Given the description of an element on the screen output the (x, y) to click on. 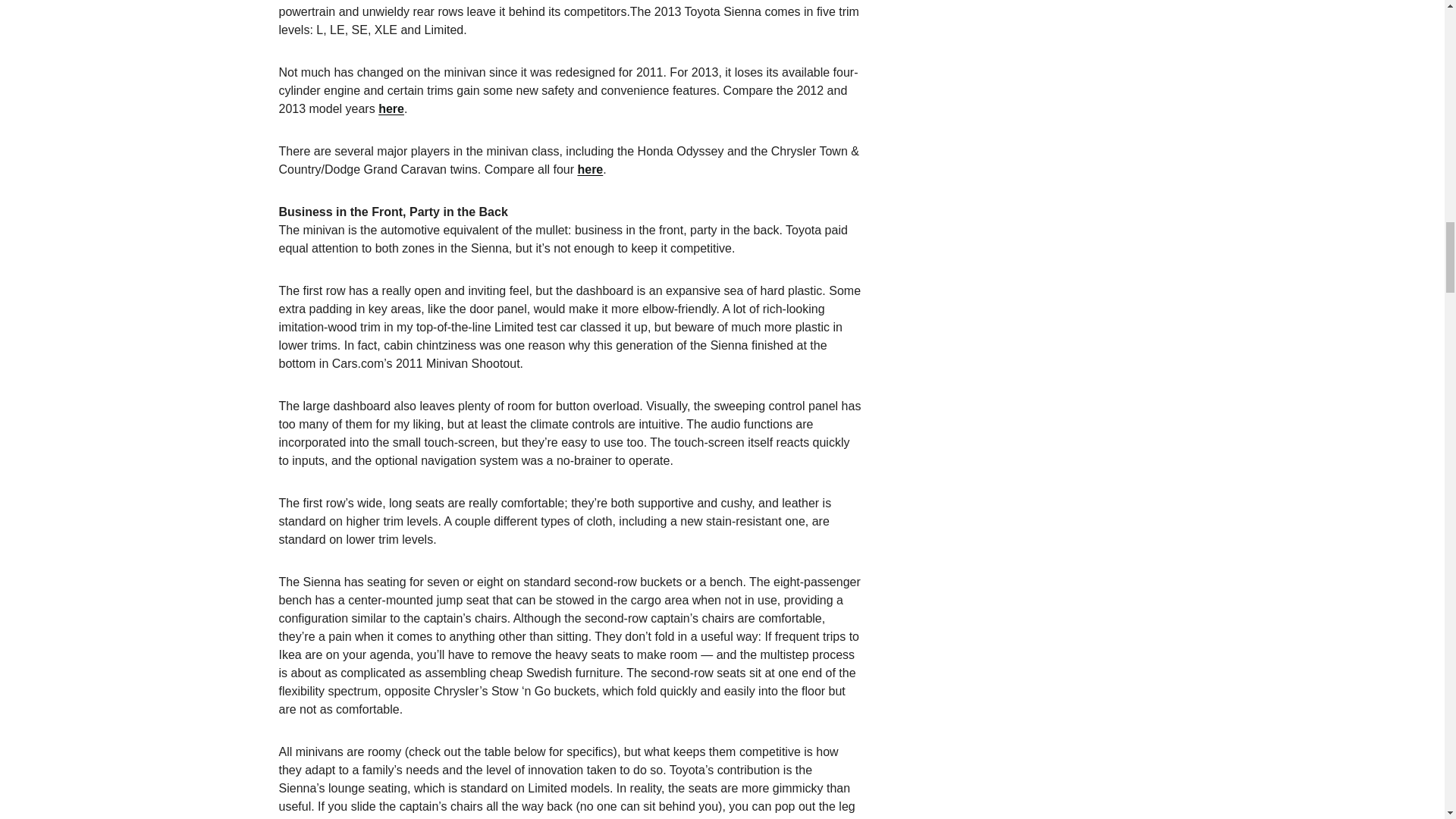
here (589, 169)
here (391, 108)
